Given the description of an element on the screen output the (x, y) to click on. 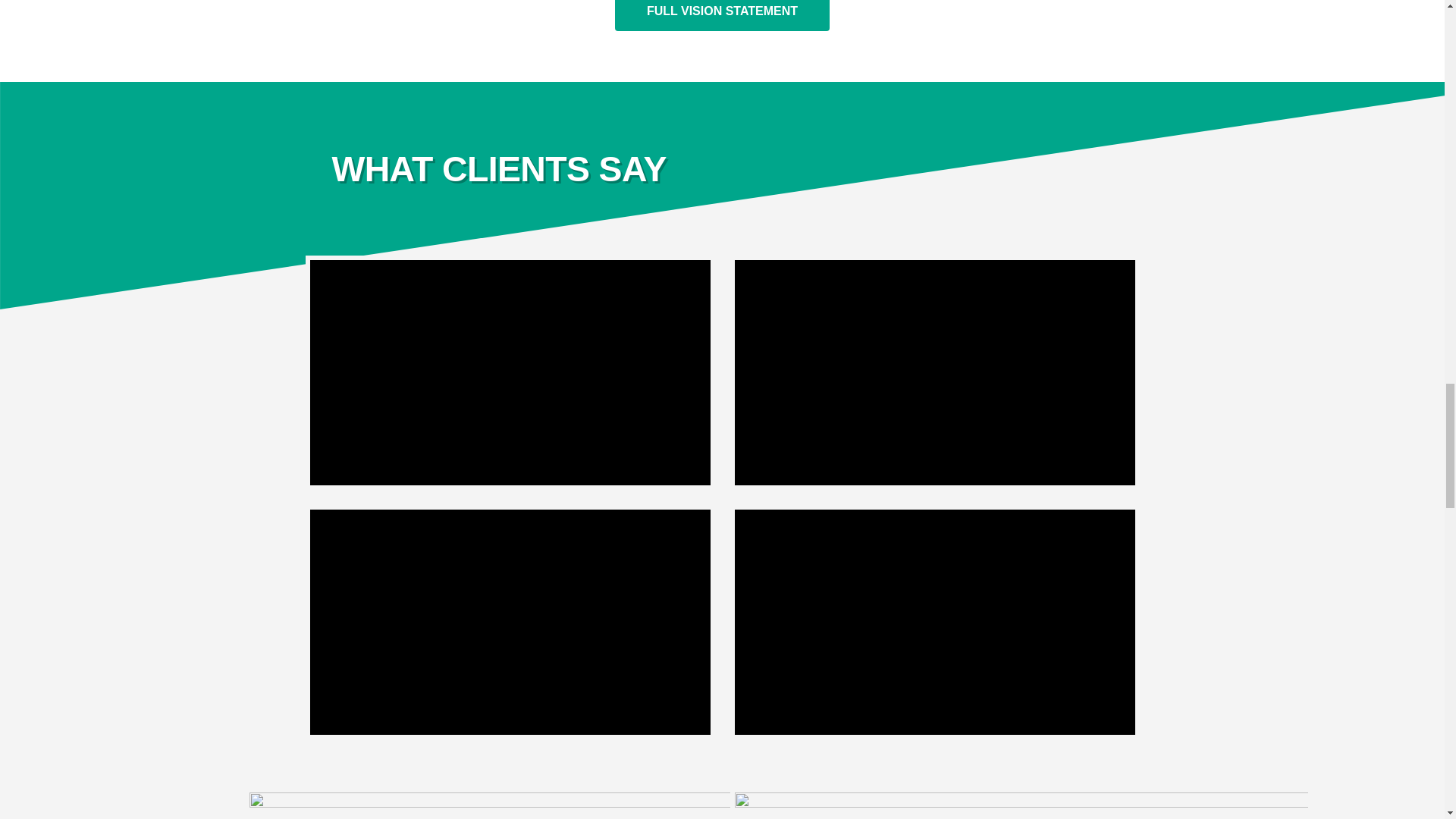
vimeo Video Player (933, 621)
vimeo Video Player (509, 621)
vimeo Video Player (509, 372)
vimeo Video Player (933, 372)
